Given the description of an element on the screen output the (x, y) to click on. 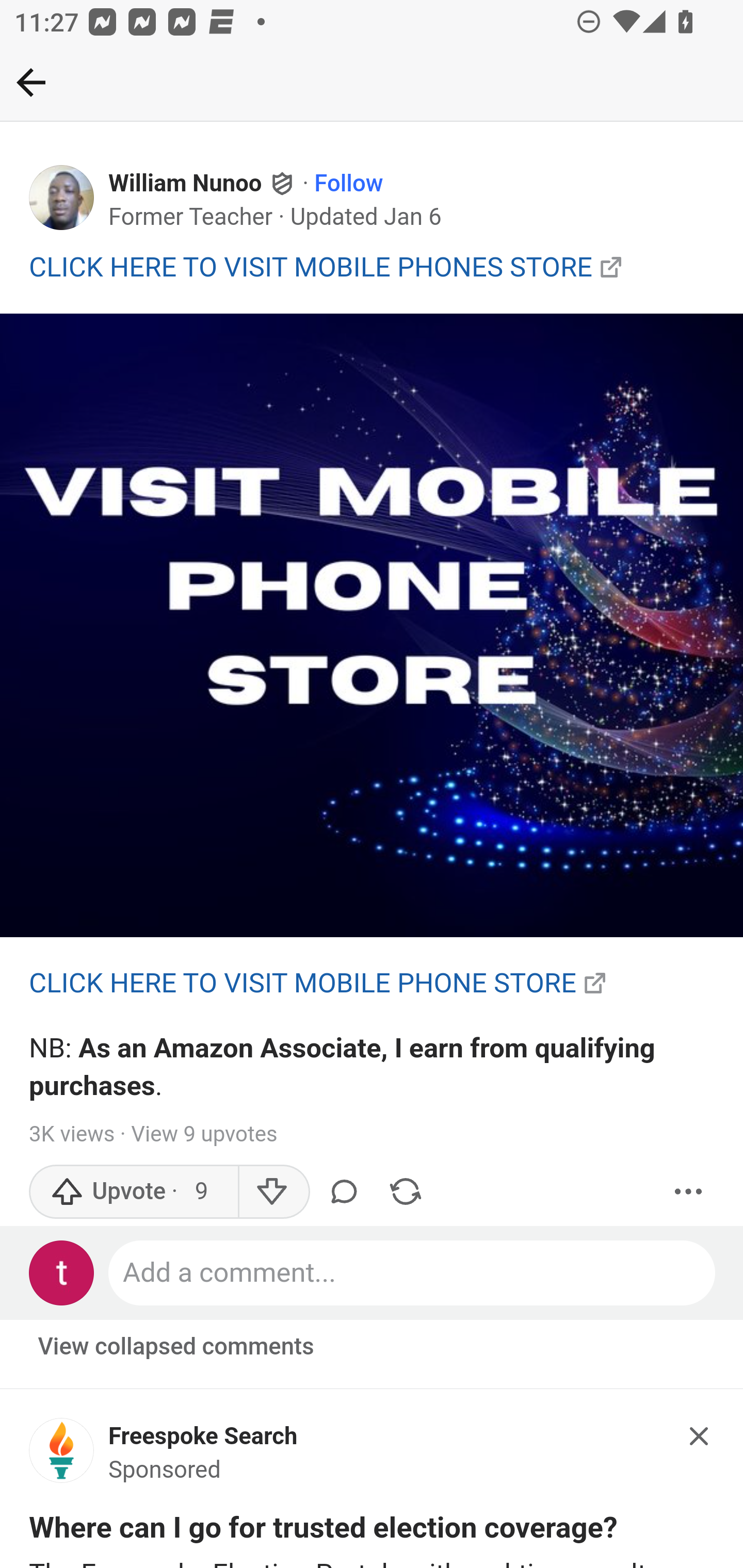
Back (30, 82)
Profile photo for William Nunoo (61, 198)
William Nunoo (185, 183)
Follow (349, 183)
CLICK HERE TO VISIT MOBILE PHONES STORE (310, 266)
main-qimg-e6cd300878b5859baa3a4fcd2af8e83d-pjlq (371, 626)
CLICK HERE TO VISIT MOBILE PHONE STORE (303, 982)
View 9 upvotes (203, 1133)
Upvote (133, 1191)
Downvote (273, 1191)
Comment (346, 1191)
Share (405, 1191)
More (688, 1191)
Profile photo for Test Appium (61, 1272)
Add a comment... (412, 1272)
View collapsed comments (176, 1346)
Hide (699, 1436)
main-qimg-784c0b59c1772b60fd46a882711c92a8 (61, 1455)
Freespoke Search (202, 1436)
Sponsored (165, 1470)
Where can I go for trusted election coverage? (323, 1531)
